Given the description of an element on the screen output the (x, y) to click on. 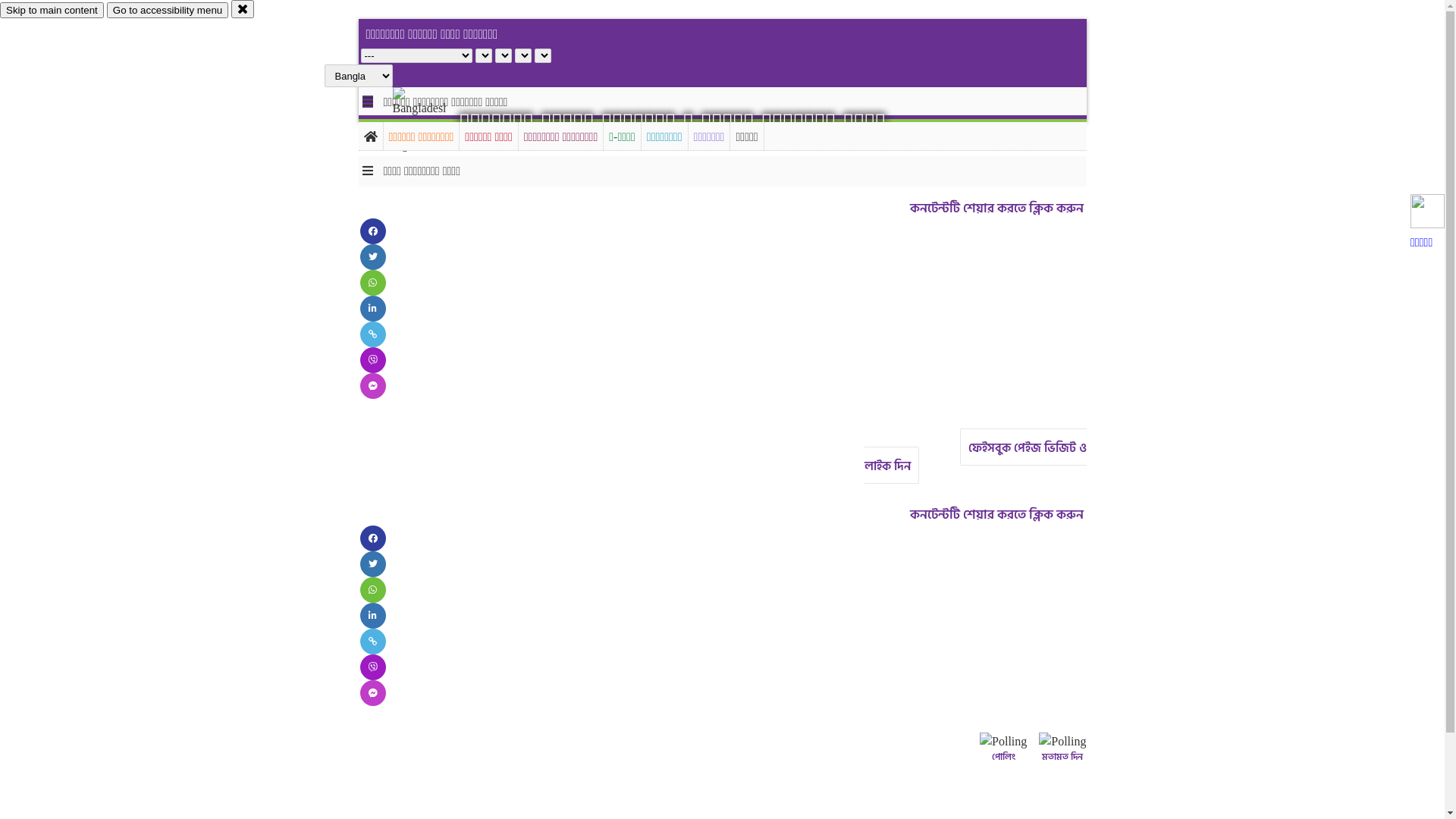

                
             Element type: hover (431, 120)
close Element type: hover (242, 9)
Skip to main content Element type: text (51, 10)
Go to accessibility menu Element type: text (167, 10)
